Given the description of an element on the screen output the (x, y) to click on. 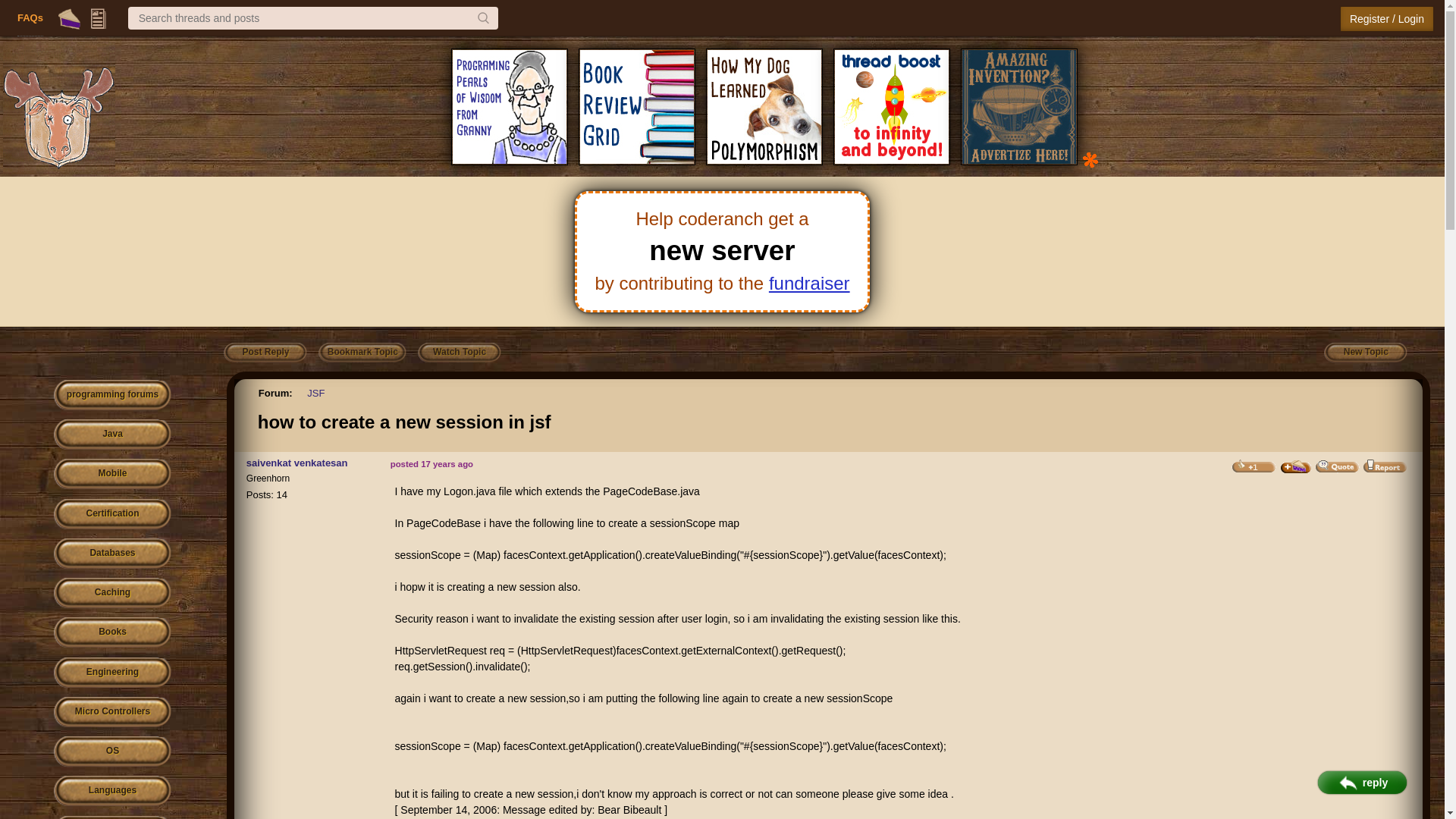
Micro Controllers (112, 712)
fundraiser (809, 282)
Caching (112, 593)
Books (112, 632)
Databases (112, 553)
Micro Controllers (112, 712)
Java (112, 434)
You must log in or register to be able to create a new topic (1365, 352)
Java (112, 434)
Databases (112, 553)
You must log in or register to be able to reply (265, 352)
OS (112, 751)
Engineering (112, 672)
forums home (112, 395)
